Given the description of an element on the screen output the (x, y) to click on. 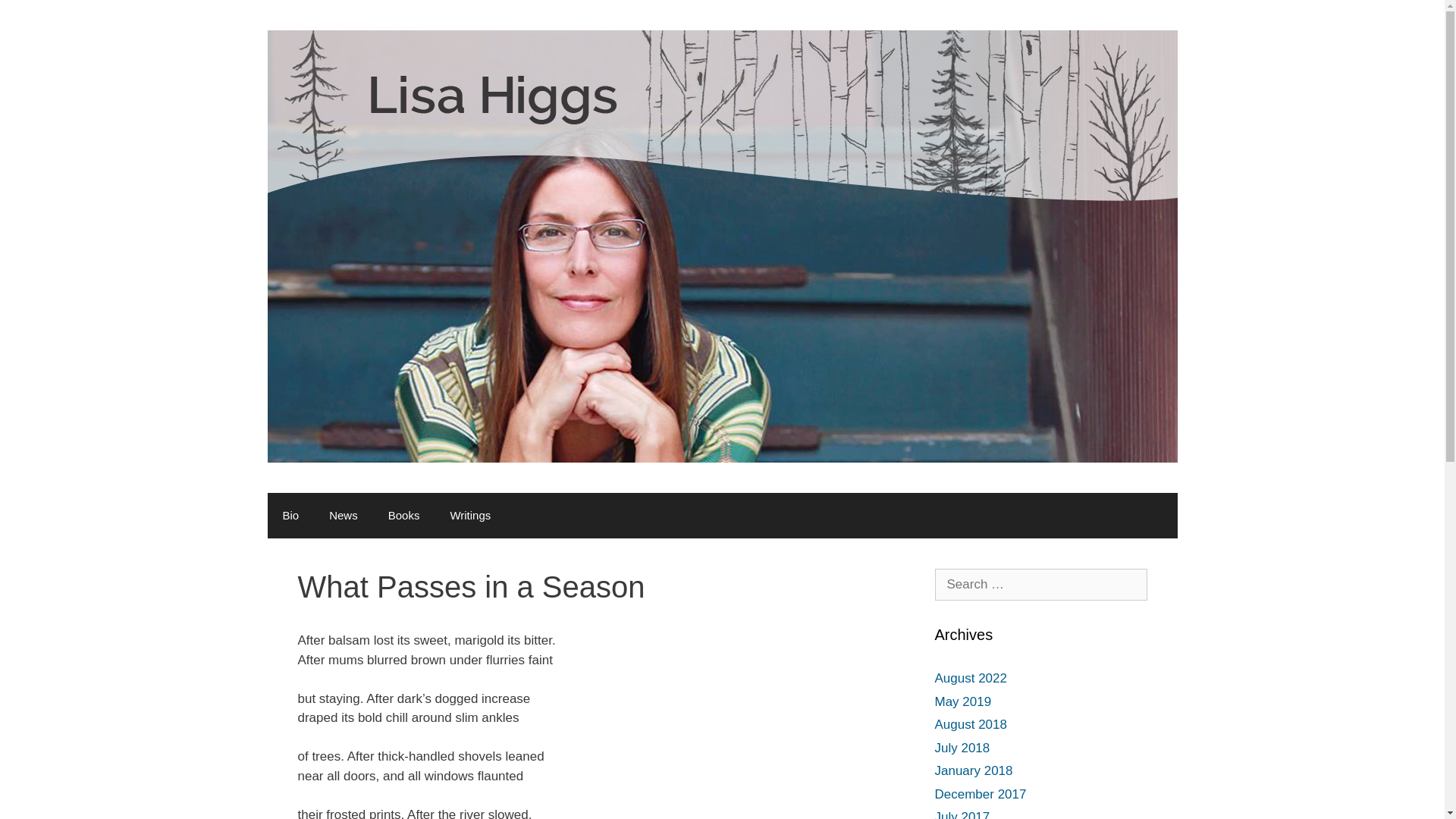
Bio (290, 515)
Books (403, 515)
May 2019 (962, 701)
Writings (469, 515)
August 2018 (970, 724)
Skip to content (42, 9)
News (343, 515)
Lisa Higgs (721, 245)
January 2018 (972, 770)
Skip to content (42, 9)
July 2018 (962, 747)
July 2017 (962, 814)
Search for: (1040, 584)
December 2017 (980, 794)
